Given the description of an element on the screen output the (x, y) to click on. 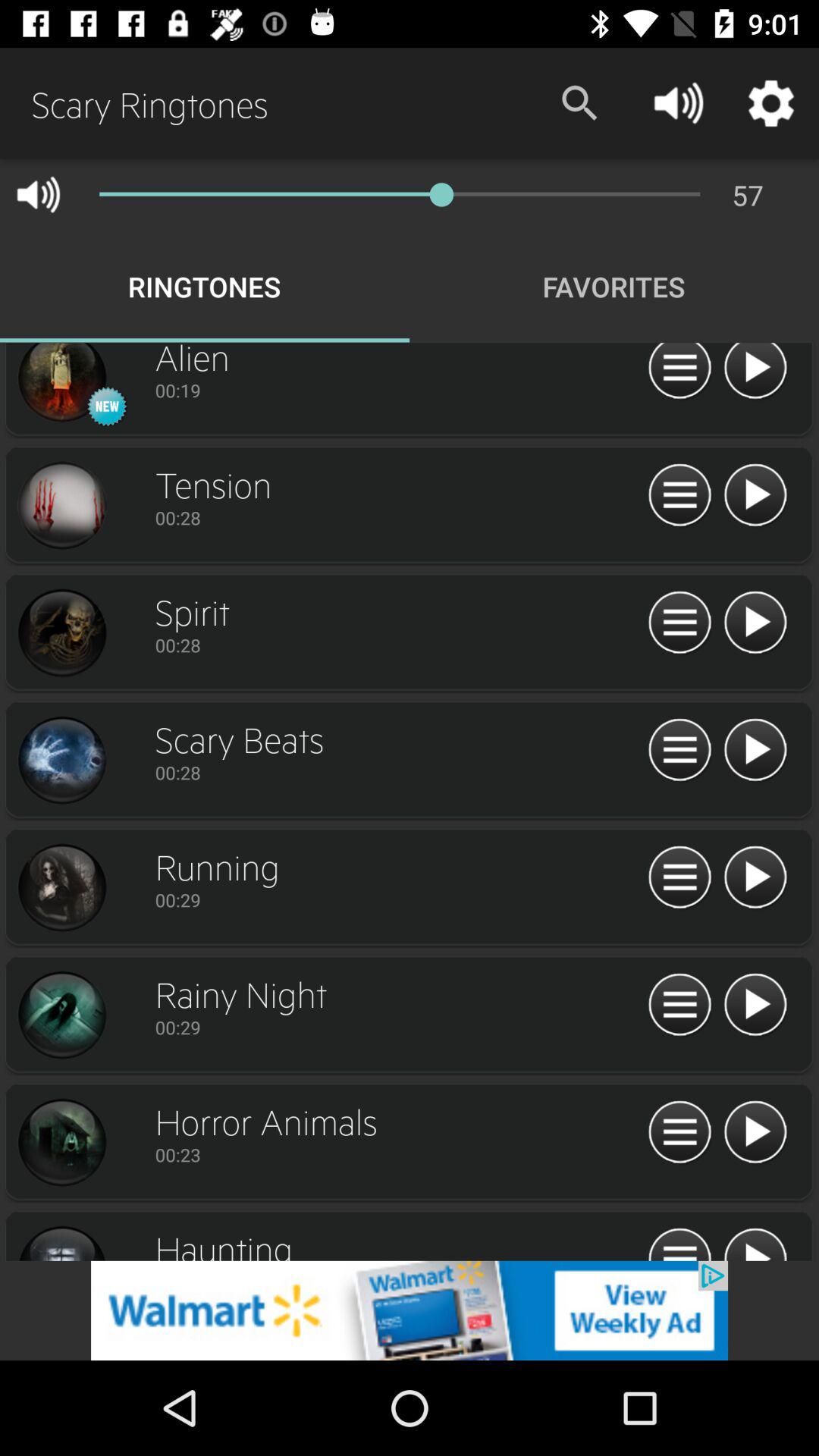
play option (755, 495)
